Given the description of an element on the screen output the (x, y) to click on. 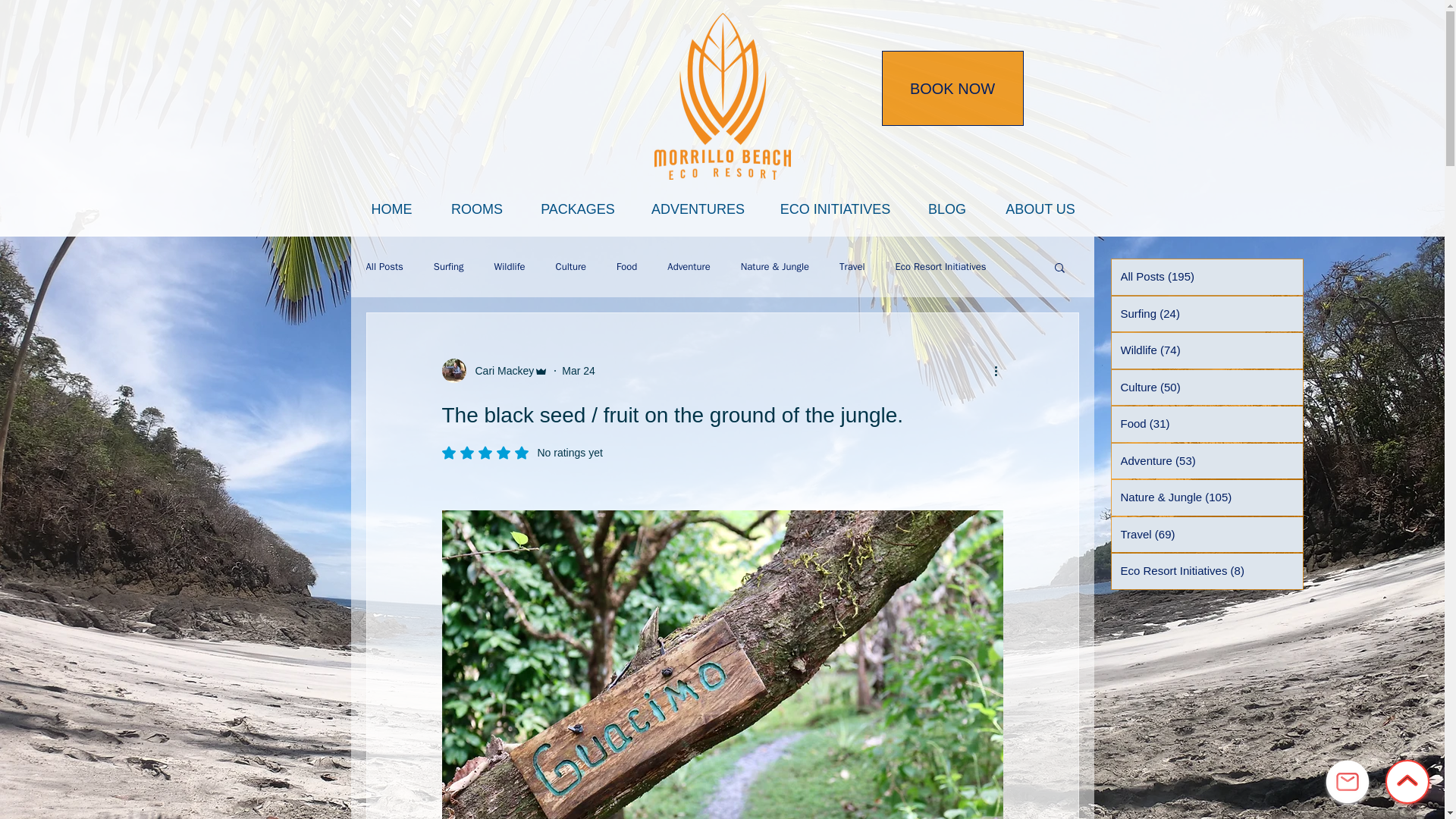
HOME (392, 208)
ECO INITIATIVES (835, 208)
ROOMS (477, 208)
PACKAGES (577, 208)
BOOK NOW (951, 88)
Mar 24 (578, 369)
Cari Mackey (499, 370)
ADVENTURES (697, 208)
